Given the description of an element on the screen output the (x, y) to click on. 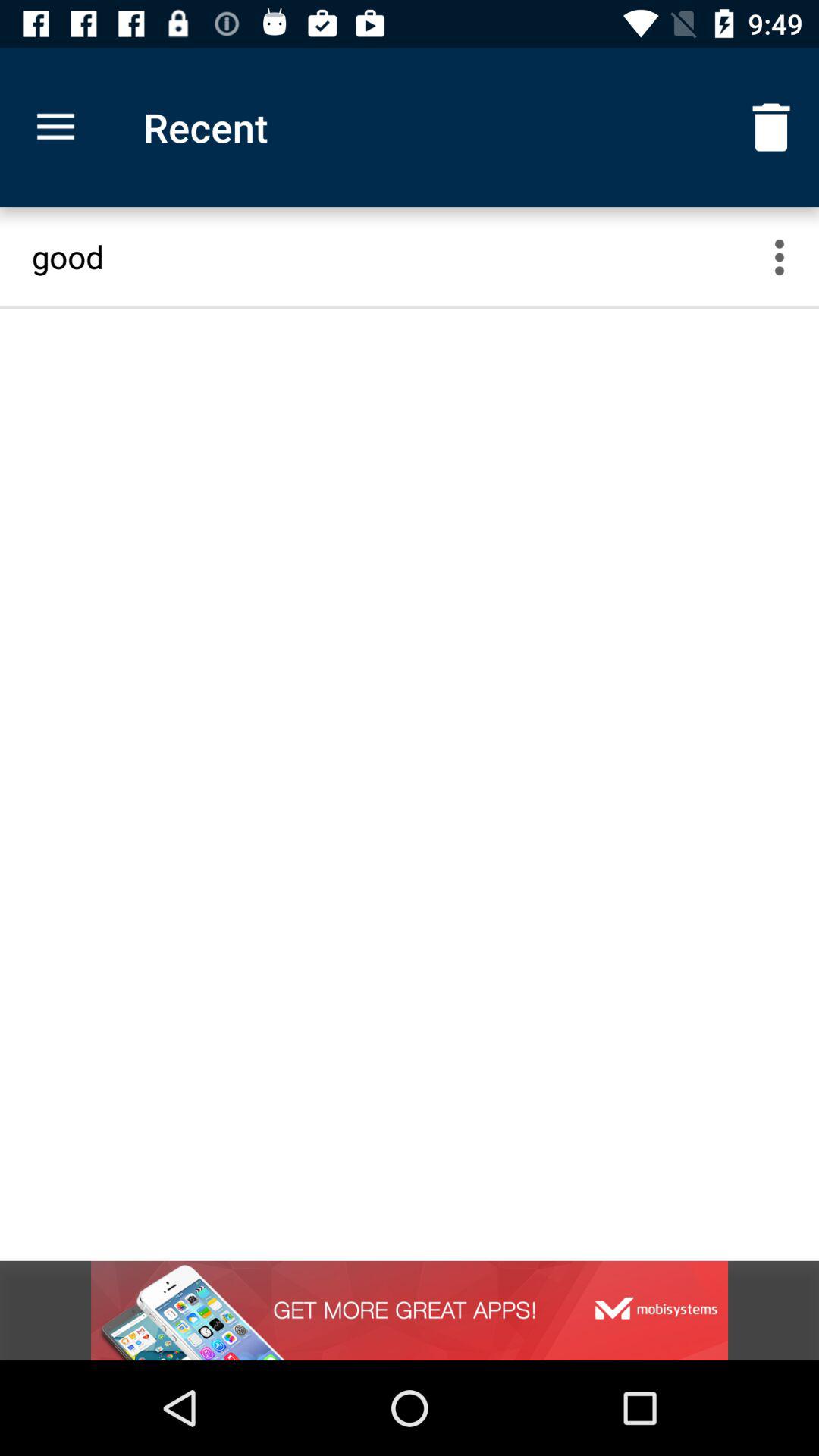
press item next to the good (789, 256)
